Given the description of an element on the screen output the (x, y) to click on. 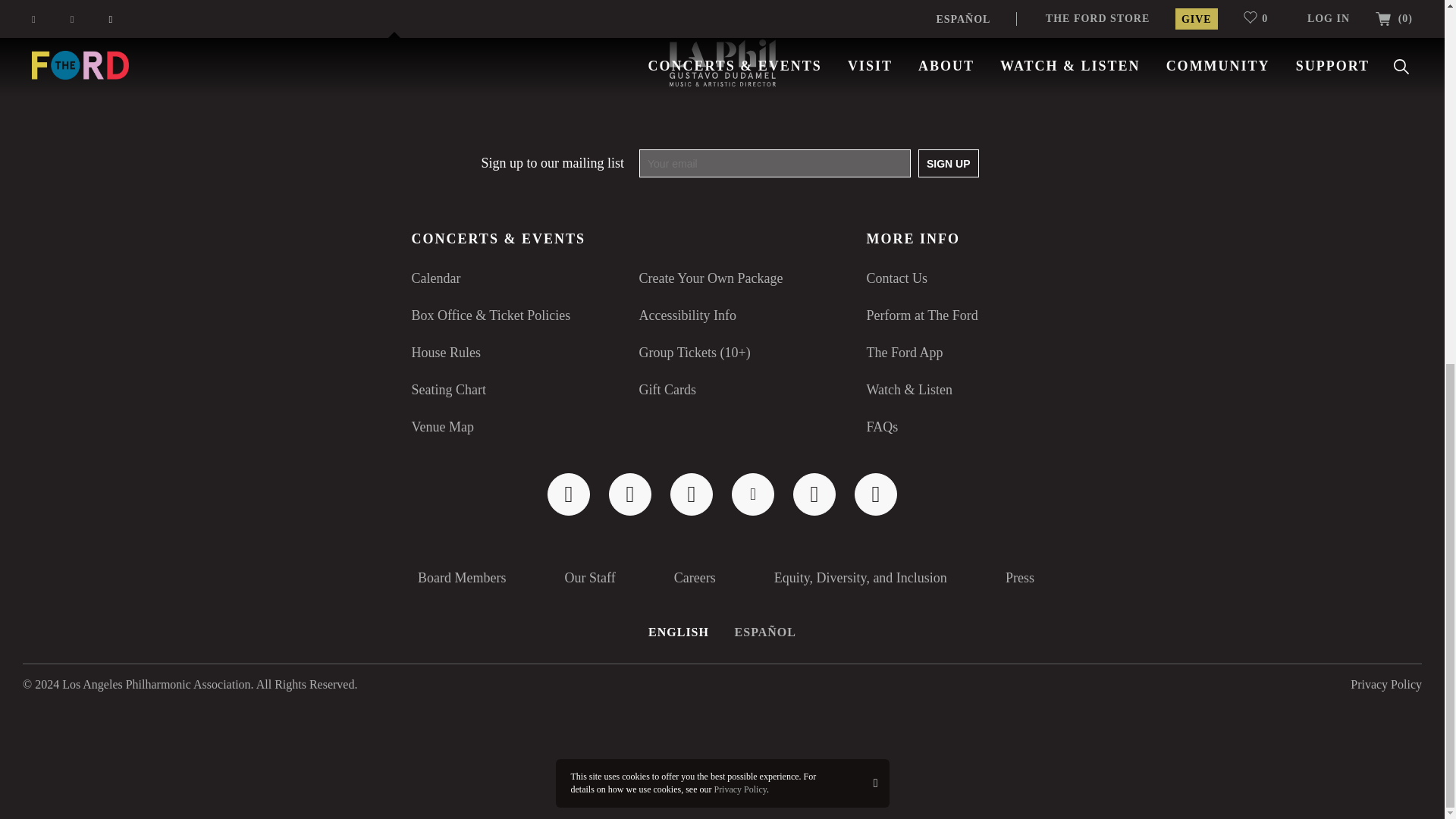
Sign Up (948, 163)
